Given the description of an element on the screen output the (x, y) to click on. 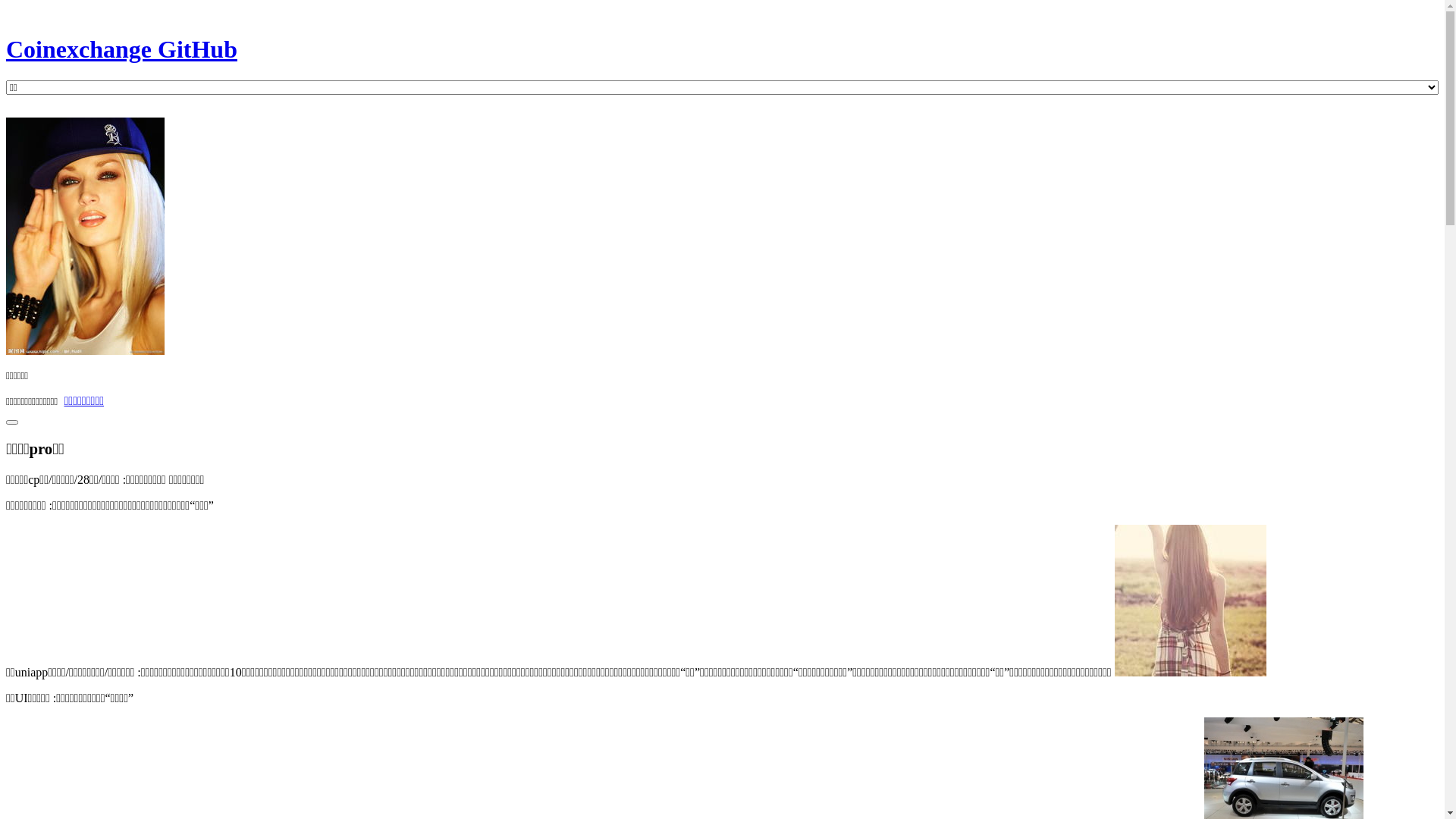
Coinexchange GitHub Element type: text (722, 62)
